Given the description of an element on the screen output the (x, y) to click on. 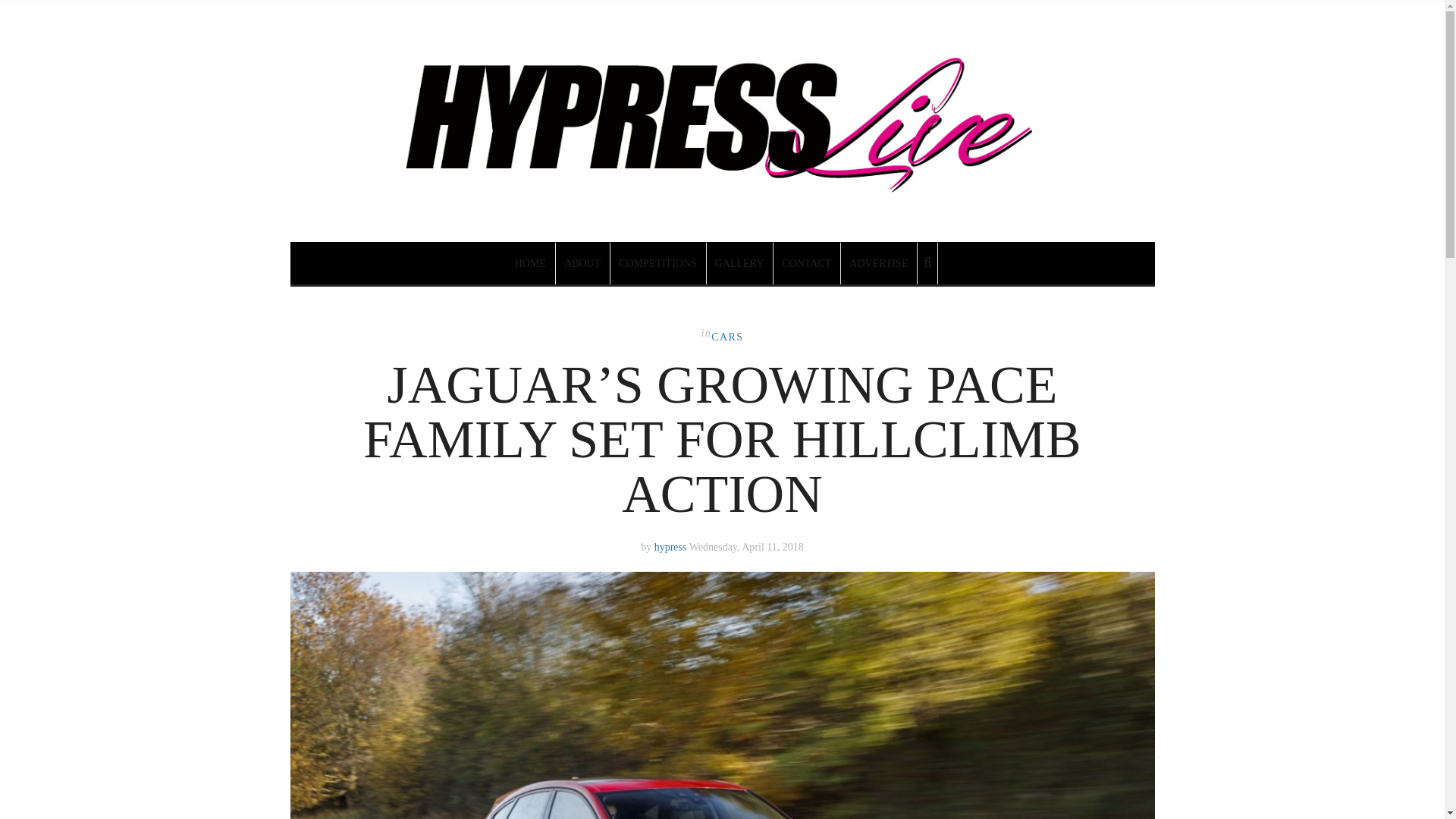
COMPETITIONS (658, 263)
CARS (726, 337)
GALLERY (740, 263)
hypress (670, 546)
CONTACT (807, 263)
ABOUT (583, 263)
Posts by hypress (670, 546)
ADVERTISE (879, 263)
HOME (531, 263)
